Given the description of an element on the screen output the (x, y) to click on. 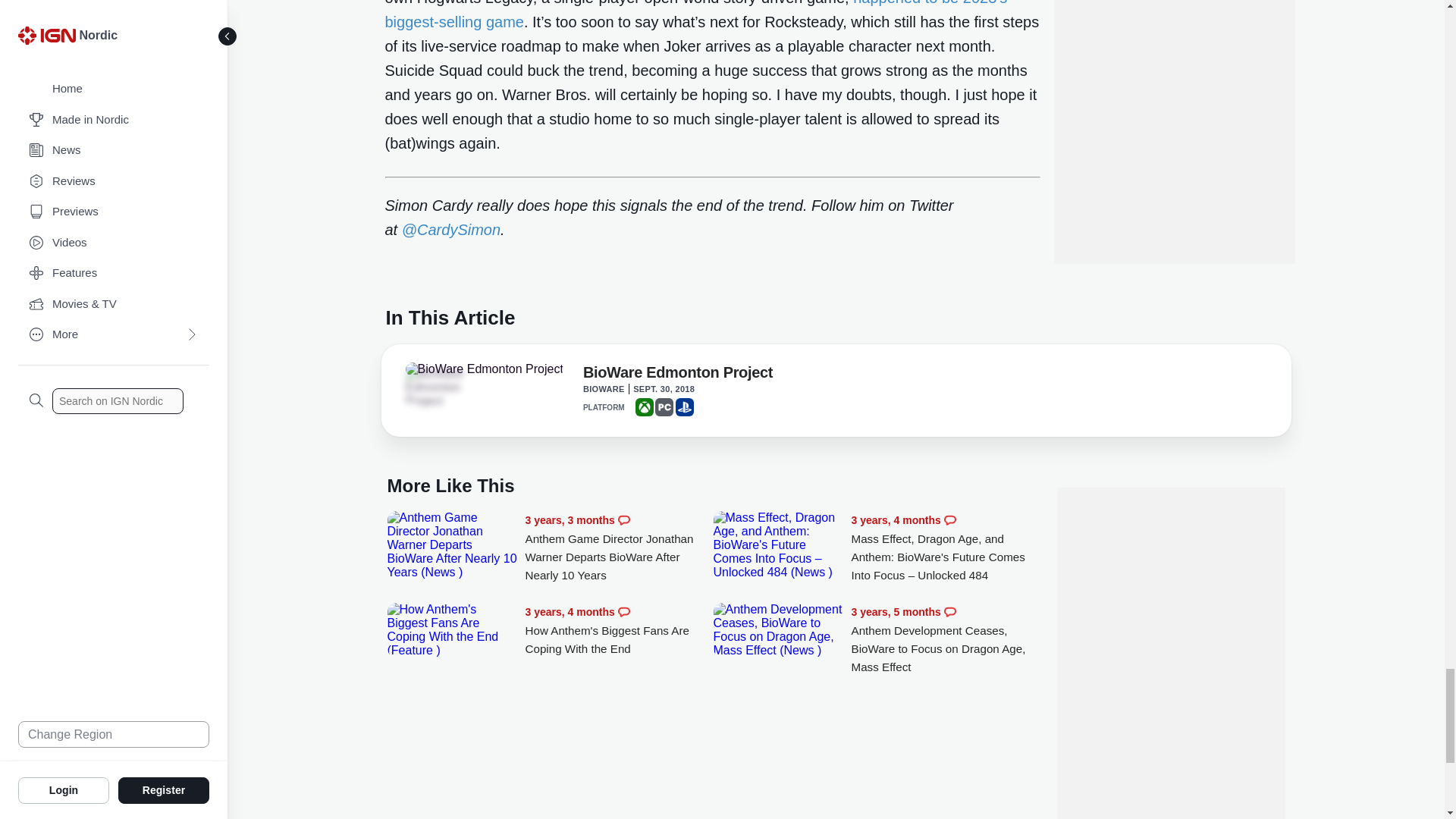
XBOXONE (643, 407)
PC (663, 407)
BioWare Edmonton Project (483, 368)
Comments (623, 520)
PS4 (684, 407)
Comments (949, 520)
BioWare Edmonton Project (678, 374)
BioWare Edmonton Project (448, 386)
How Anthem's Biggest Fans Are Coping With the End   (451, 629)
How Anthem's Biggest Fans Are Coping With the End   (618, 630)
